Given the description of an element on the screen output the (x, y) to click on. 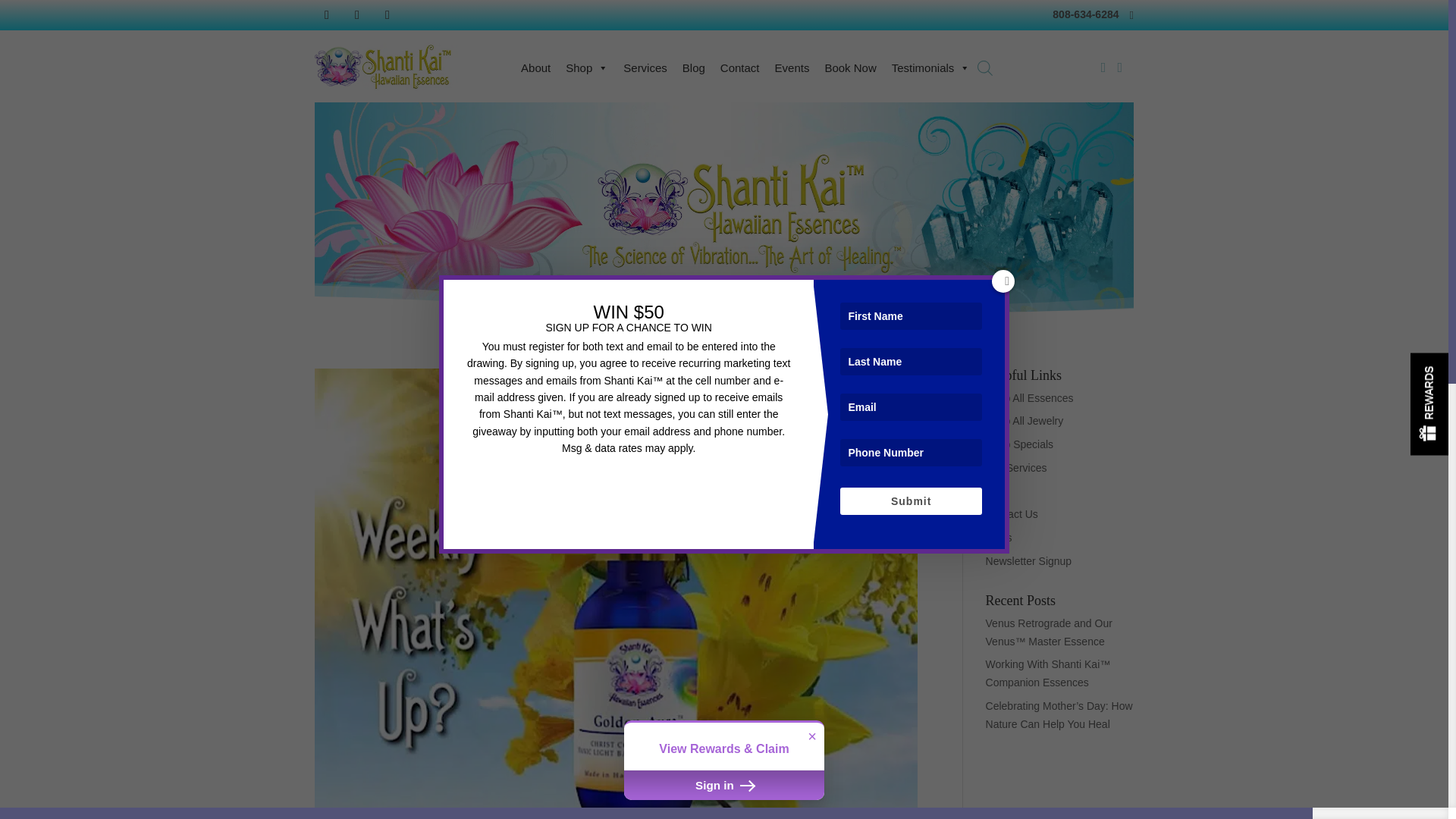
Shop (586, 67)
sk Logo (386, 66)
Follow on Youtube (386, 15)
Follow on Instagram (357, 15)
Follow on Facebook (326, 15)
